Given the description of an element on the screen output the (x, y) to click on. 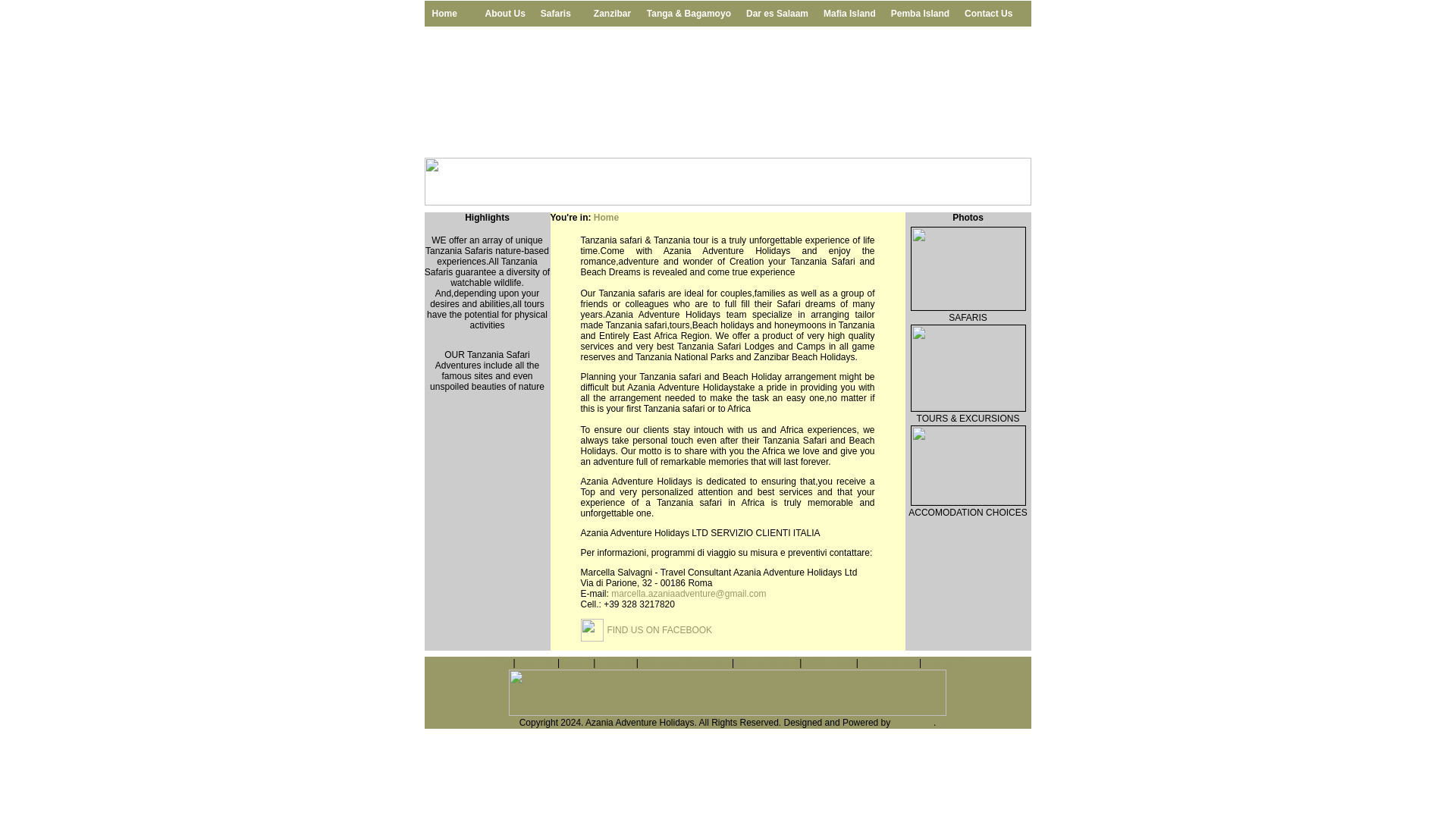
Pemba Island (919, 13)
Home (498, 662)
Dar es Salaam (776, 13)
Pemba Island (887, 662)
FIND US ON FACEBOOK (659, 629)
About Us (504, 13)
Contact Us (988, 13)
Zanzibar (615, 662)
Dar es Salaam (766, 662)
Home (451, 13)
Home (606, 217)
Safaris (576, 662)
Zanzibar (612, 13)
Contact Us (945, 662)
About Us (535, 662)
